Given the description of an element on the screen output the (x, y) to click on. 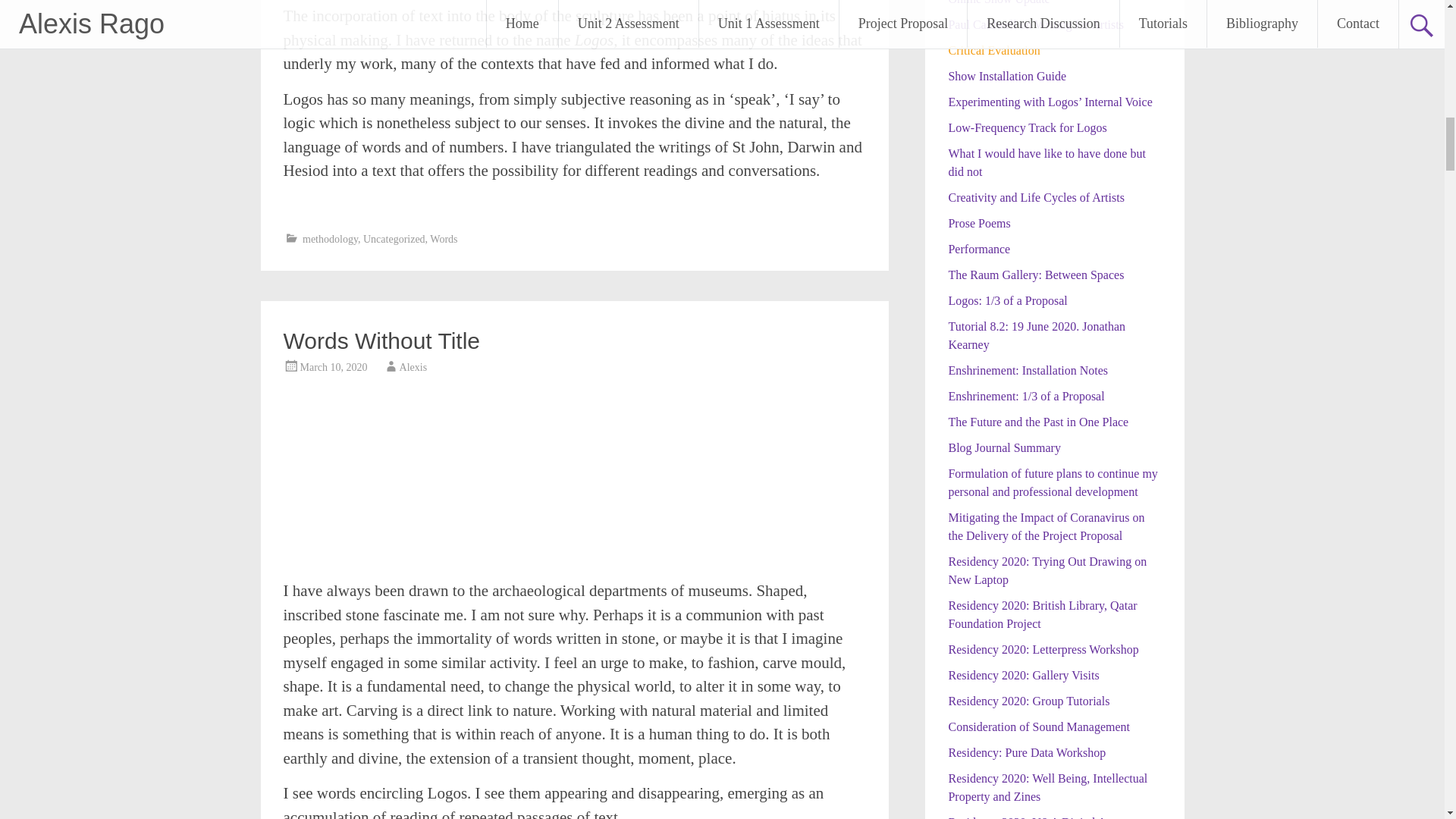
Alexis (413, 367)
Words Without Title (381, 340)
methodology (330, 238)
March 10, 2020 (333, 367)
Words (443, 238)
Uncategorized (393, 238)
